Given the description of an element on the screen output the (x, y) to click on. 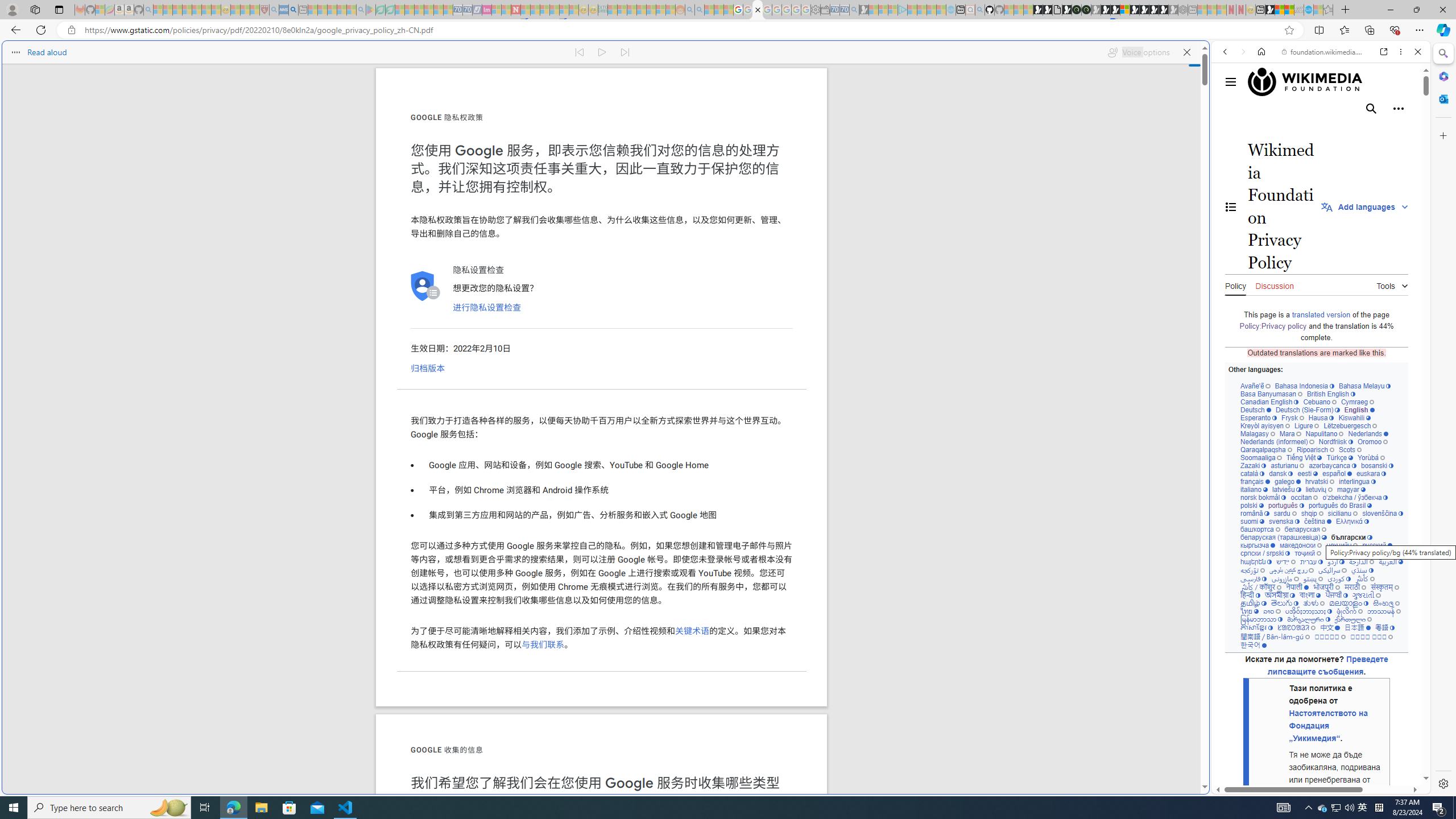
sardu (1285, 513)
Frysk (1292, 417)
Zazaki (1253, 465)
Kiswahili (1354, 417)
Earth has six continents not seven, radical new study claims (1288, 9)
